Given the description of an element on the screen output the (x, y) to click on. 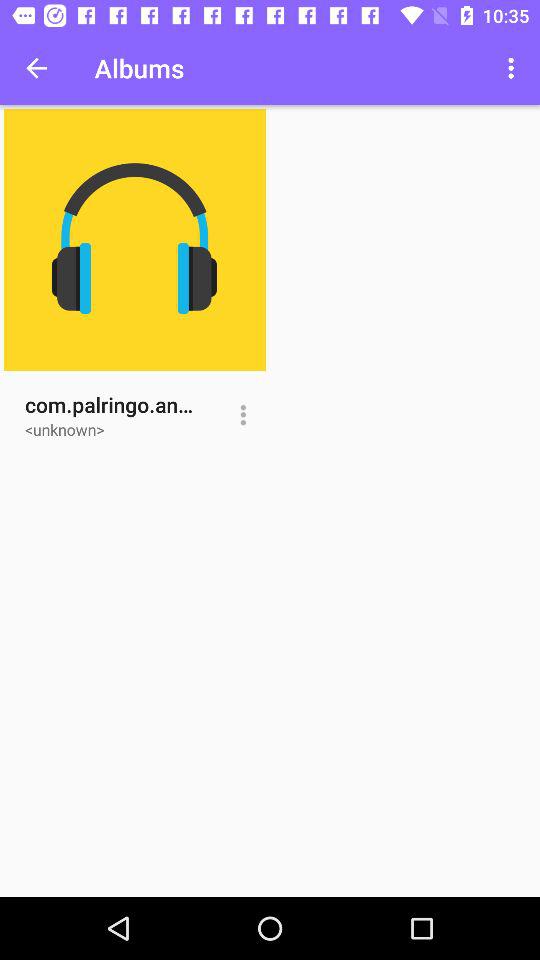
turn on icon at the top right corner (513, 67)
